Given the description of an element on the screen output the (x, y) to click on. 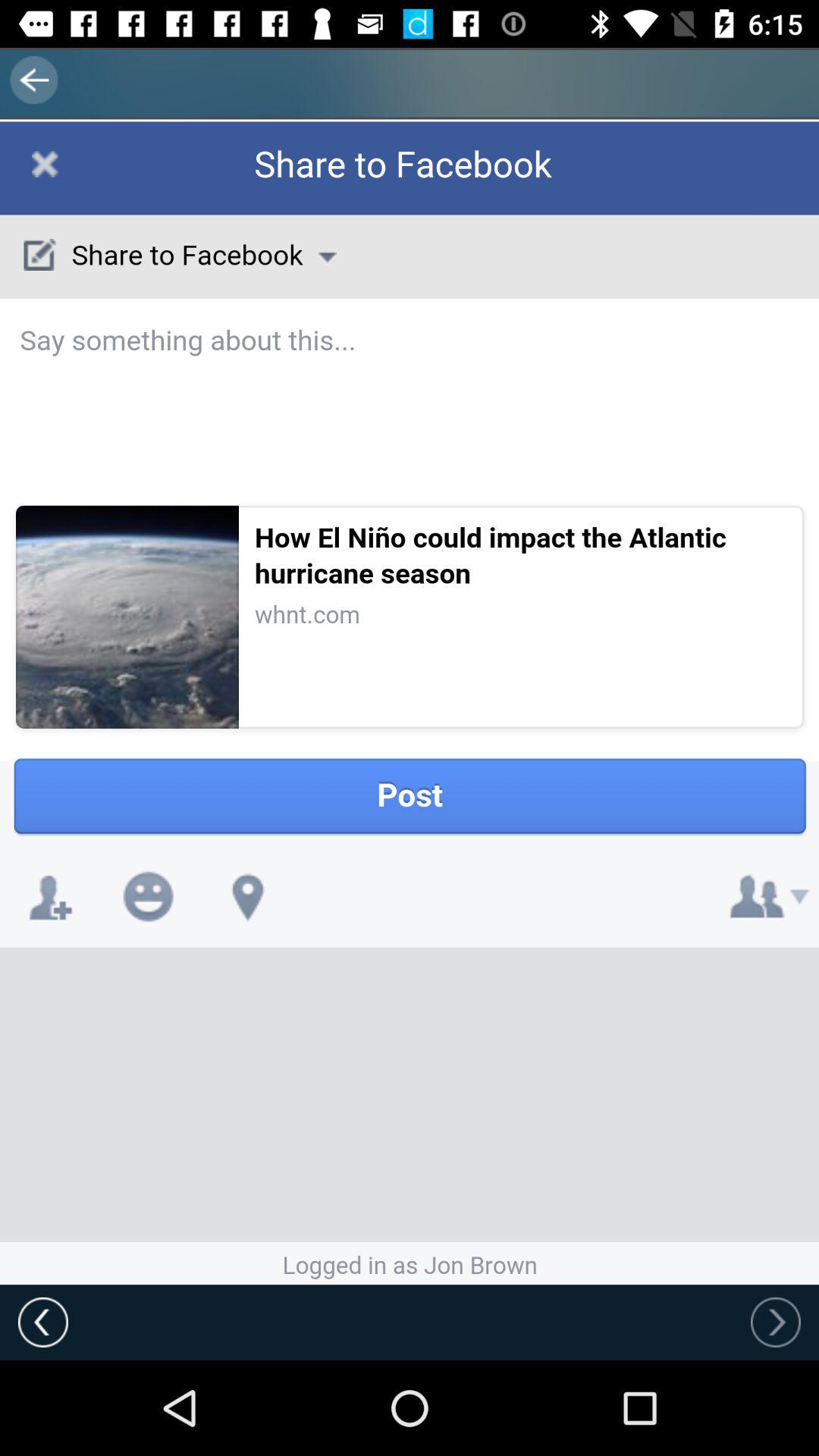
go to previous (775, 1322)
